Given the description of an element on the screen output the (x, y) to click on. 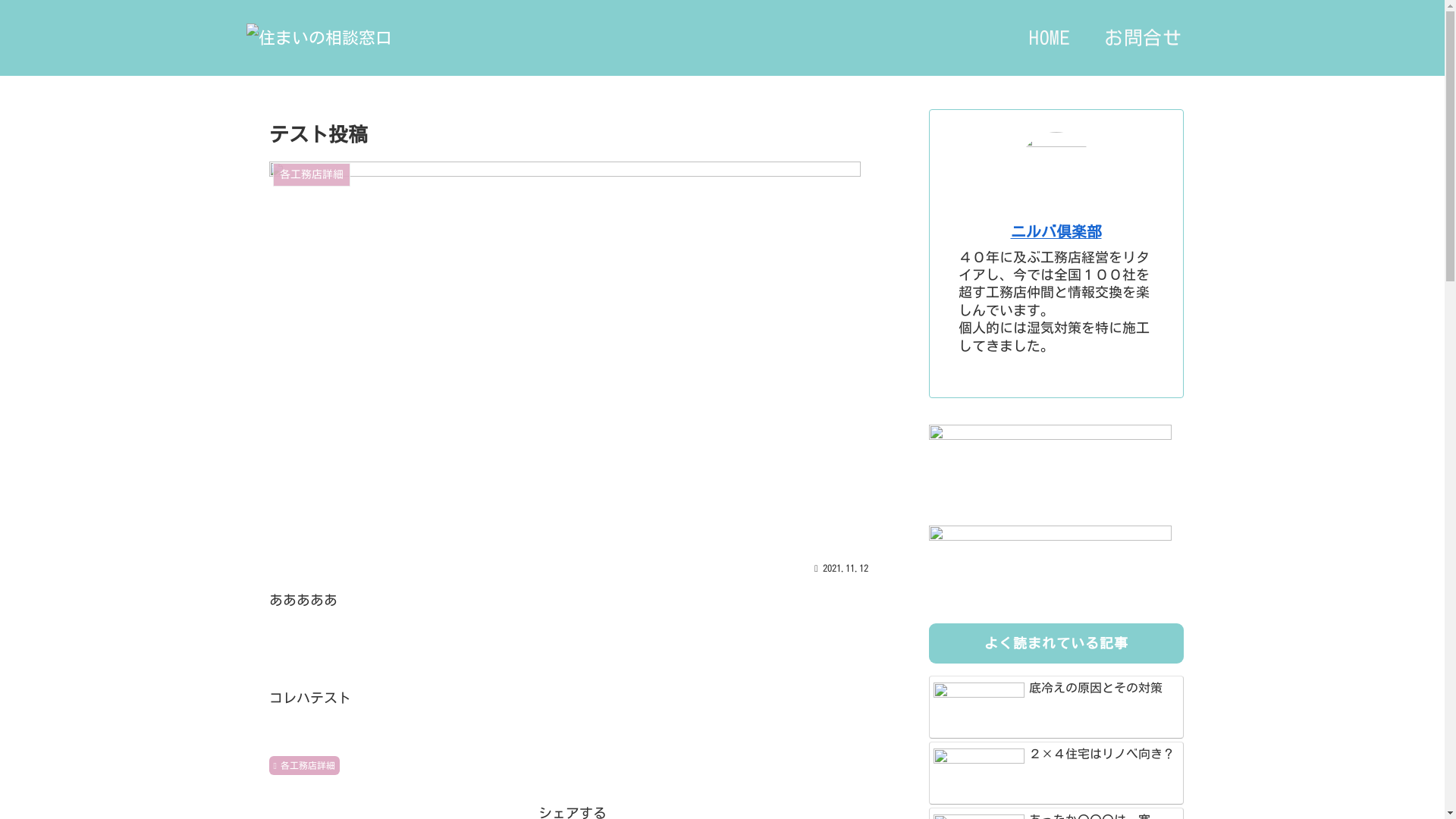
HOME Element type: text (1049, 37)
